Given the description of an element on the screen output the (x, y) to click on. 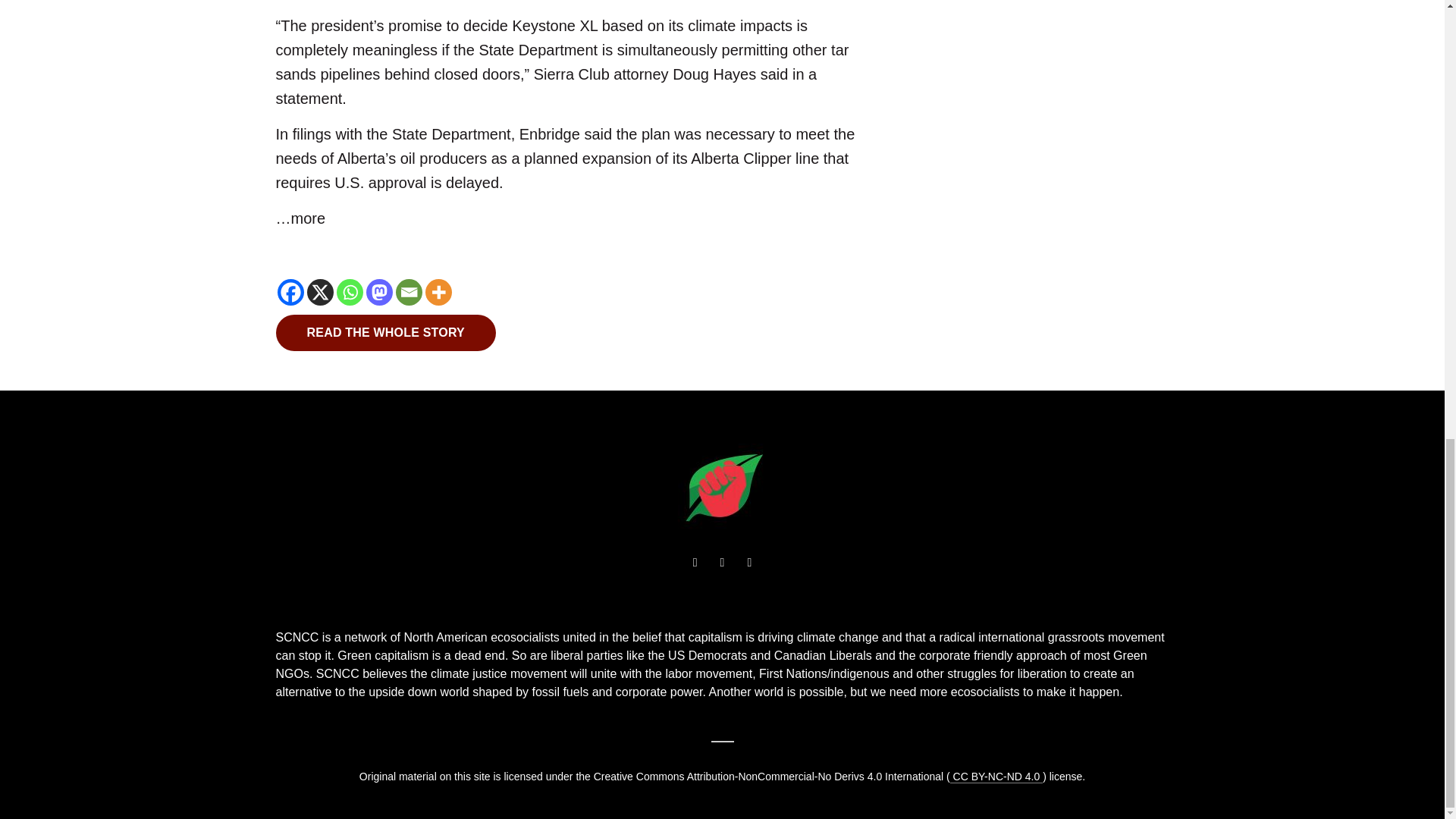
Email (409, 292)
X (319, 292)
Whatsapp (349, 292)
More (438, 292)
Facebook (291, 292)
Mastodon (378, 292)
